Given the description of an element on the screen output the (x, y) to click on. 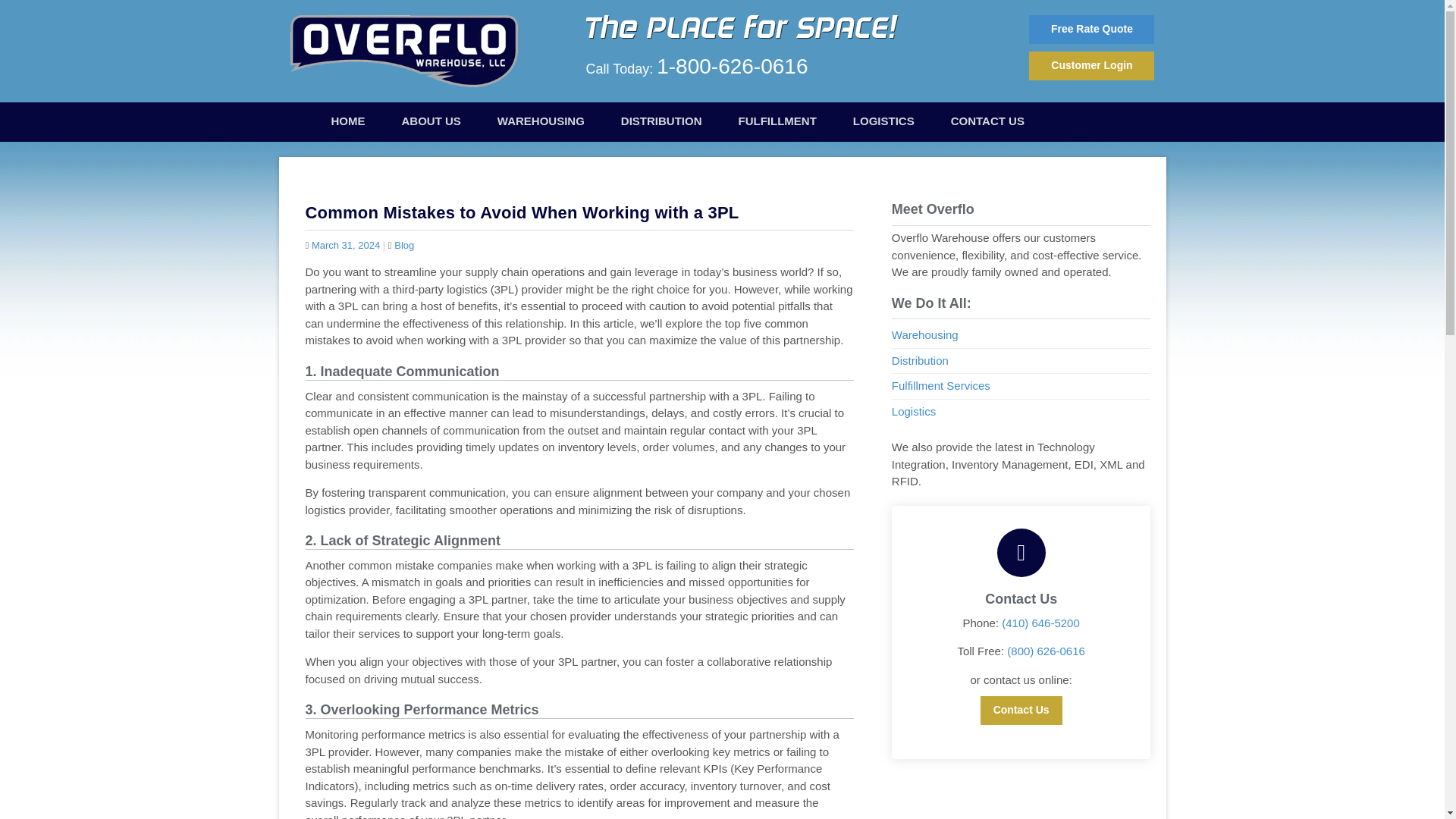
HOME (347, 121)
Logistics (913, 410)
Logistics (883, 121)
Distribution (920, 359)
LOGISTICS (883, 121)
WAREHOUSING (540, 121)
Contact Us (987, 121)
Free Rate Quote (1091, 29)
March 31, 2024 (345, 244)
About Us (431, 121)
Customer Login (1091, 65)
Skip to content (327, 110)
ABOUT US (431, 121)
Warehousing (540, 121)
Skip to content (327, 110)
